Given the description of an element on the screen output the (x, y) to click on. 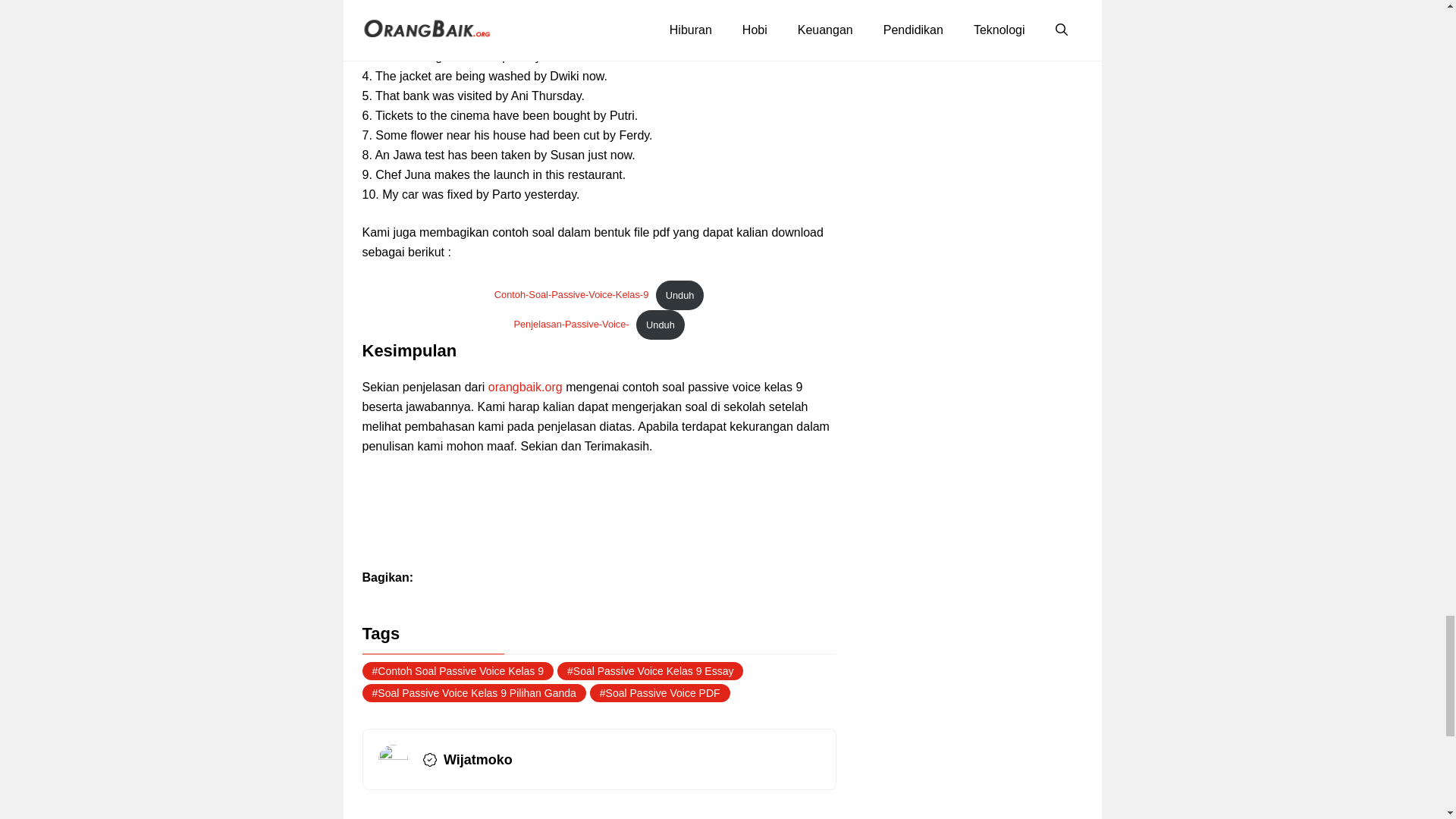
Unduh (660, 324)
Contoh-Soal-Passive-Voice-Kelas-9 (571, 295)
orangbaik.org (524, 386)
Unduh (679, 295)
Contoh Soal Passive Voice Kelas 9 (458, 670)
Penjelasan-Passive-Voice- (570, 324)
